Given the description of an element on the screen output the (x, y) to click on. 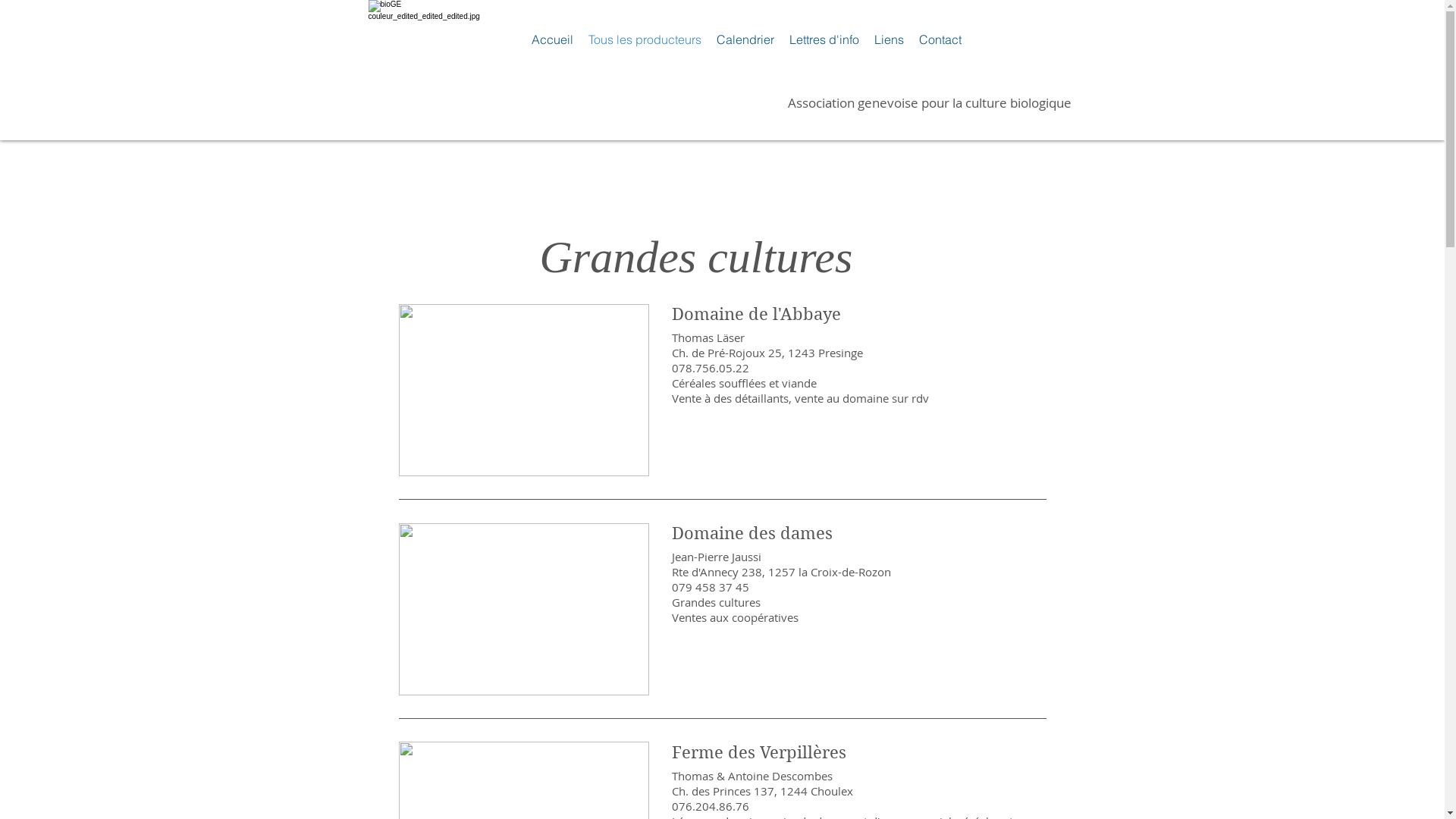
Jaussi.JPG Element type: hover (523, 609)
Liens Element type: text (888, 39)
Abbaye.png Element type: hover (523, 390)
Lettres d'info Element type: text (823, 39)
logo BIOGENEVE.jpg Element type: hover (430, 55)
Calendrier Element type: text (744, 39)
Tous les producteurs Element type: text (644, 39)
Contact Element type: text (940, 39)
Domaine des dames Element type: text (857, 532)
Domaine de l'Abbaye Element type: text (857, 313)
Accueil Element type: text (551, 39)
